Given the description of an element on the screen output the (x, y) to click on. 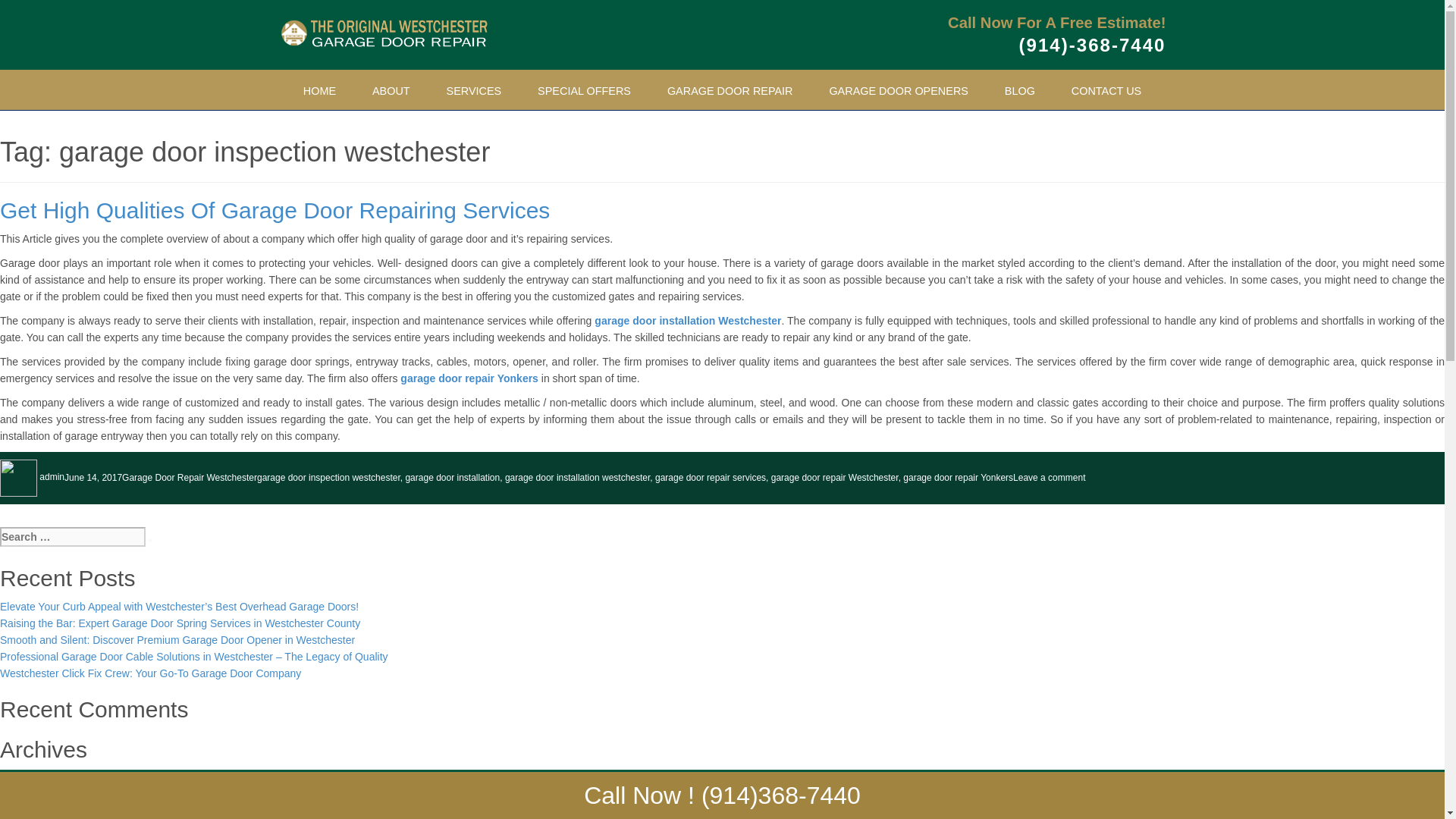
ABOUT (390, 90)
garage door repair services (710, 476)
garage door installation westchester (577, 476)
garage door repair Westchester (834, 476)
garage door installation Westchester (687, 320)
Get High Qualities Of Garage Door Repairing Services (275, 210)
garage door inspection westchester (328, 476)
CONTACT US (1105, 90)
GARAGE DOOR REPAIR (729, 90)
May 2024 (23, 811)
BLOG (1019, 90)
HOME (319, 90)
July 2024 (22, 777)
